Given the description of an element on the screen output the (x, y) to click on. 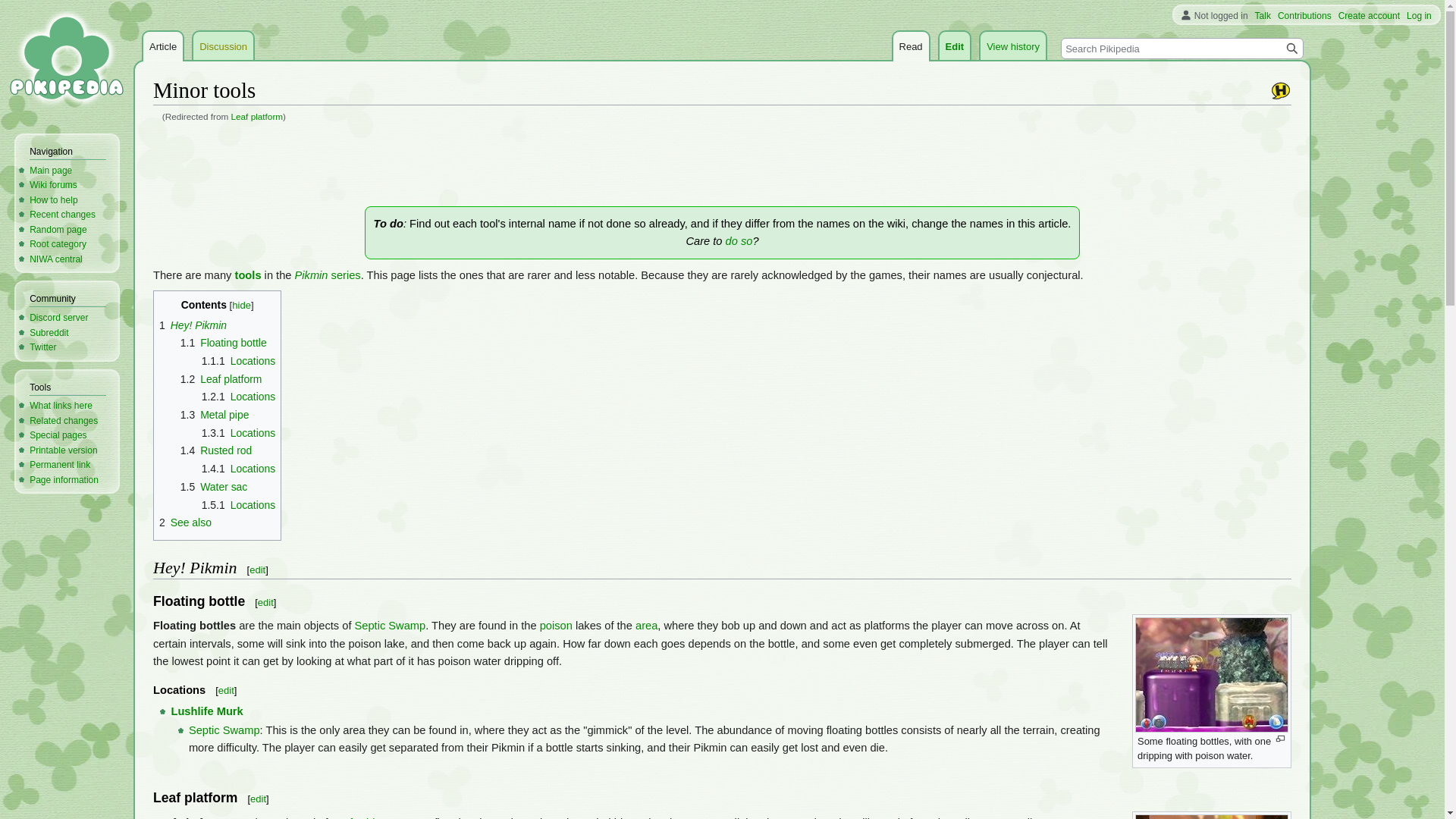
Search (1292, 48)
edit (265, 602)
Enlarge (1280, 738)
tools (248, 275)
1.5.1 Locations (239, 504)
Edit section: Floating bottle (265, 602)
Hey! Pikmin (1280, 90)
edit (258, 798)
Septic Swamp (390, 625)
Tool (248, 275)
Edit section: Locations (226, 690)
poison (556, 625)
Septic Swamp (224, 729)
Pikmin series (328, 275)
